Given the description of an element on the screen output the (x, y) to click on. 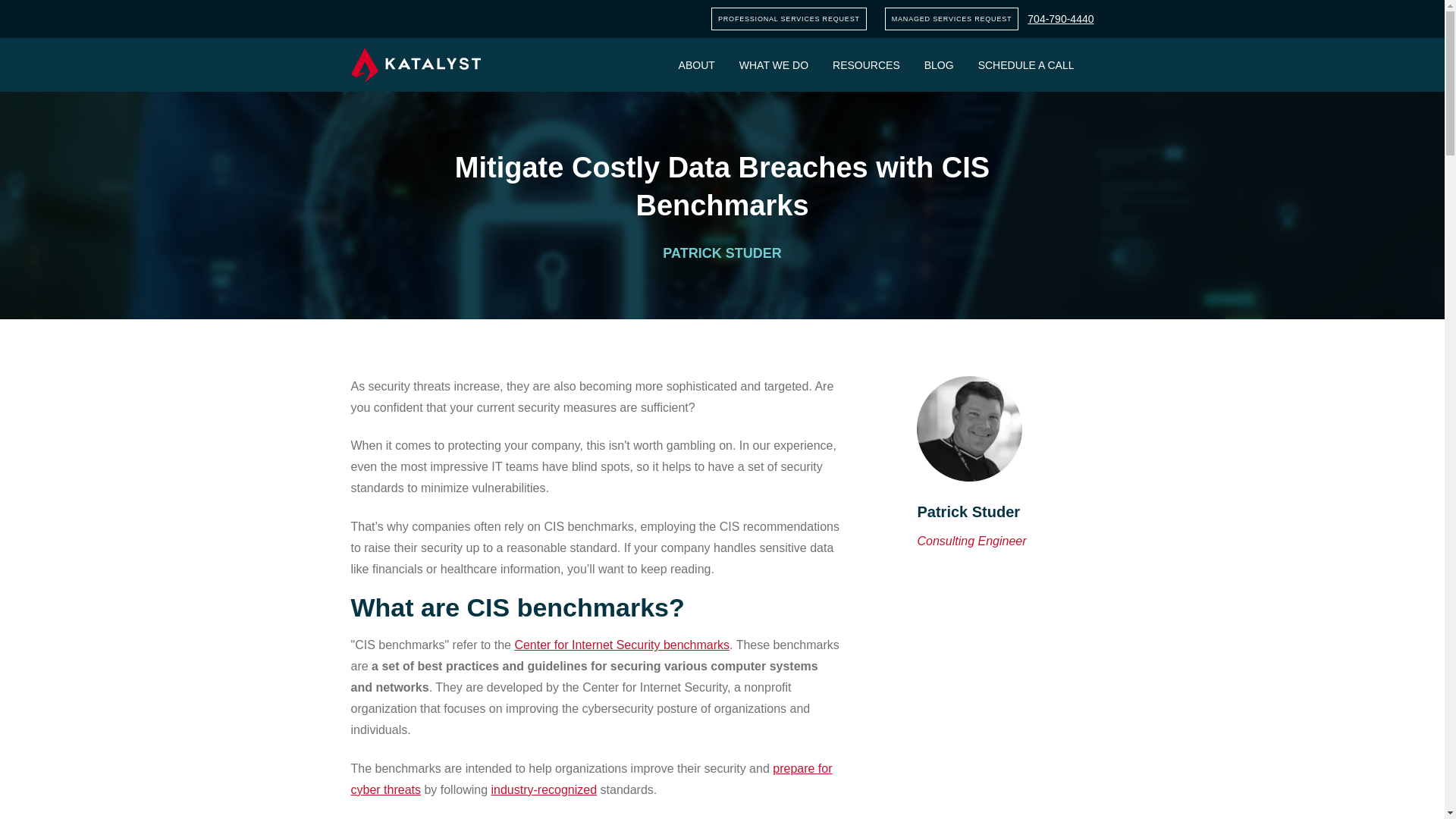
BLOG (938, 64)
ABOUT (696, 64)
prepare for cyber threats (590, 779)
MANAGED SERVICES REQUEST (952, 18)
SCHEDULE A CALL (1026, 64)
704-790-4440 (1060, 19)
Center for Internet Security benchmarks (621, 644)
industry-recognized (543, 789)
WHAT WE DO (773, 64)
PROFESSIONAL SERVICES REQUEST (788, 18)
